Given the description of an element on the screen output the (x, y) to click on. 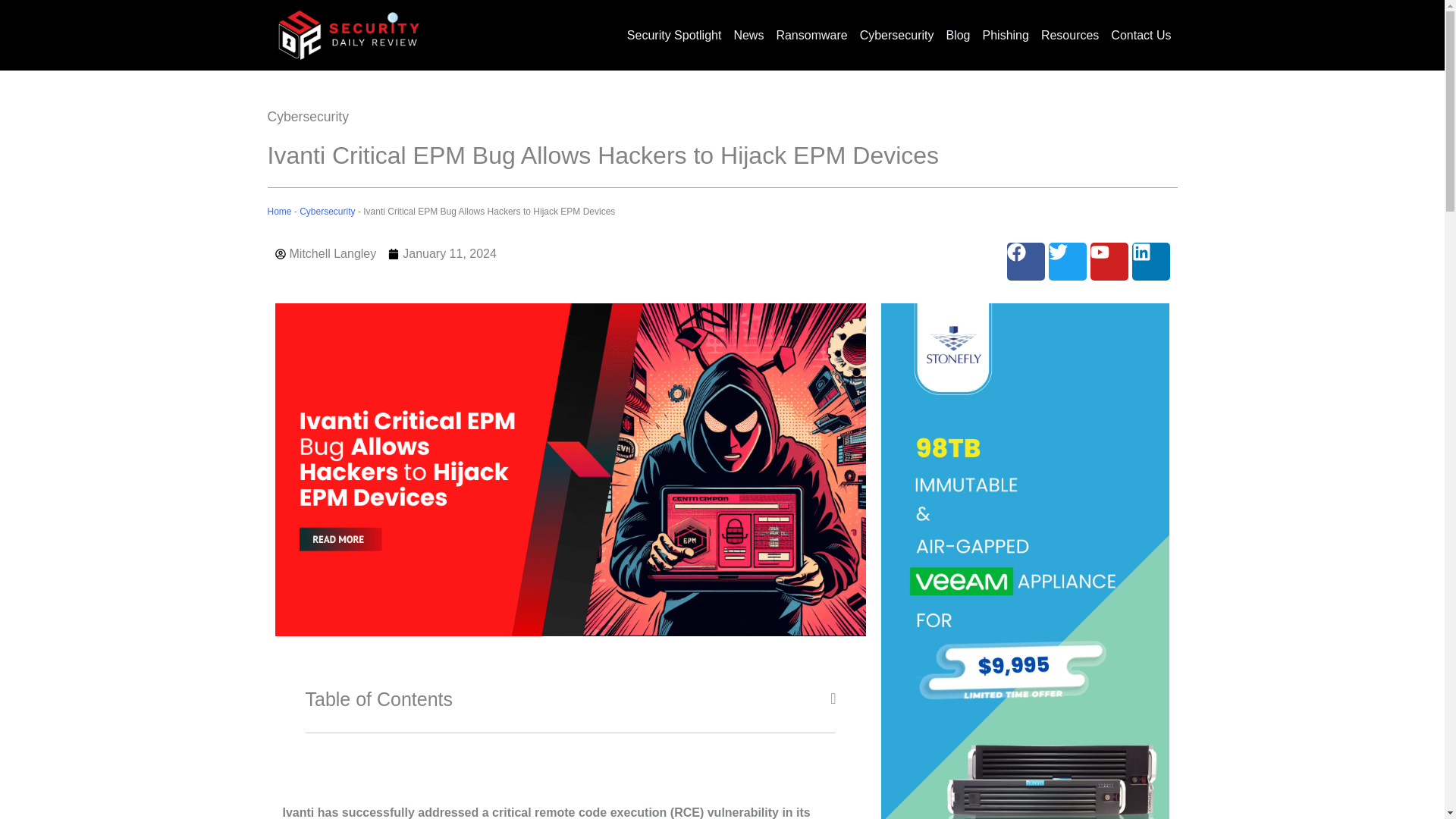
Security Spotlight (674, 35)
News (748, 35)
Linkedin (1150, 261)
Youtube (1109, 261)
Cybersecurity (307, 116)
Twitter (1067, 261)
Cybersecurity (327, 211)
Facebook (1026, 261)
Blog (957, 35)
Contact Us (1140, 35)
